Given the description of an element on the screen output the (x, y) to click on. 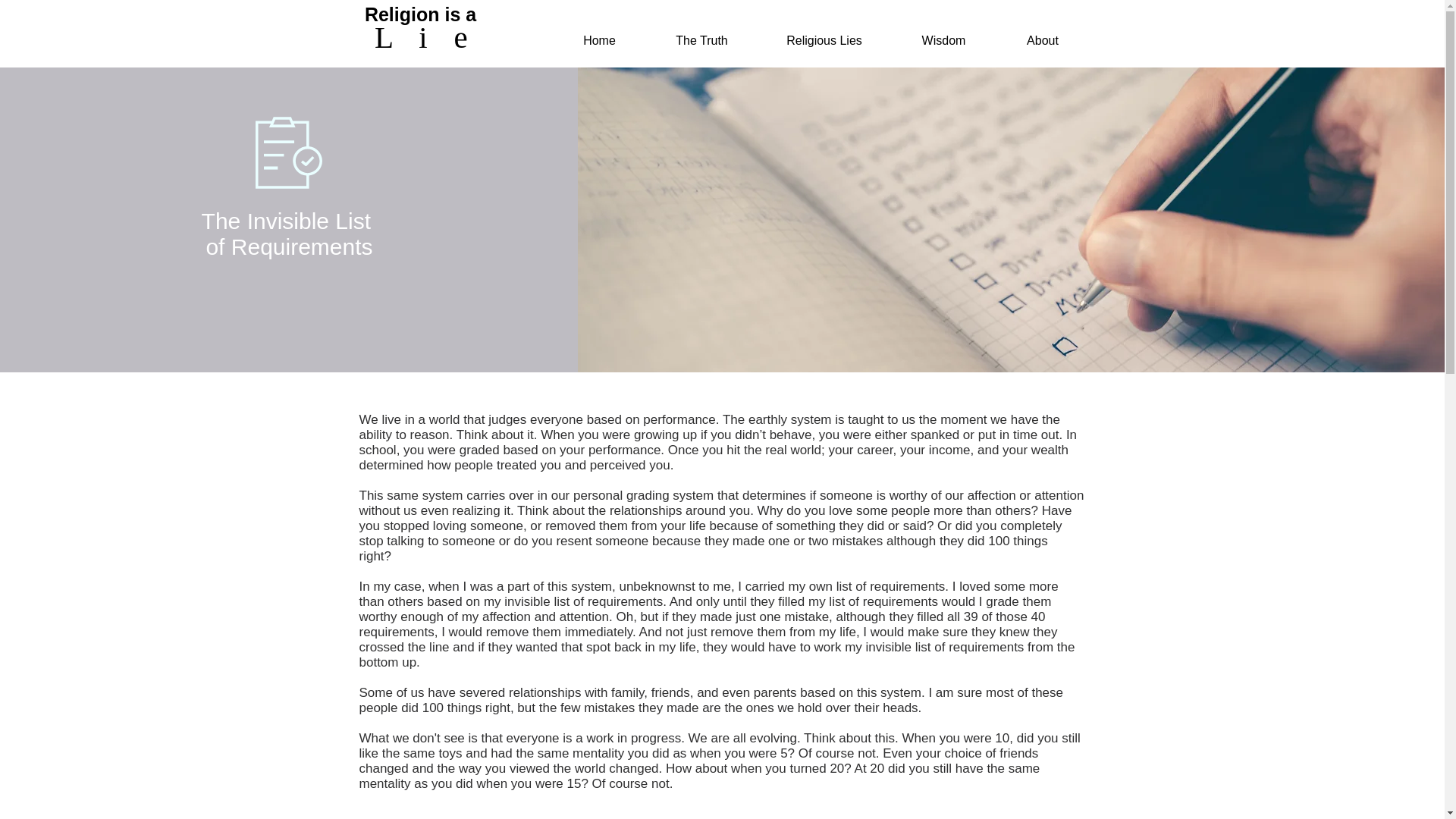
L i e (425, 36)
The Truth (701, 40)
Wisdom (943, 40)
Religion is a  (423, 14)
About (1042, 40)
Home (598, 40)
Religious Lies (824, 40)
